Given the description of an element on the screen output the (x, y) to click on. 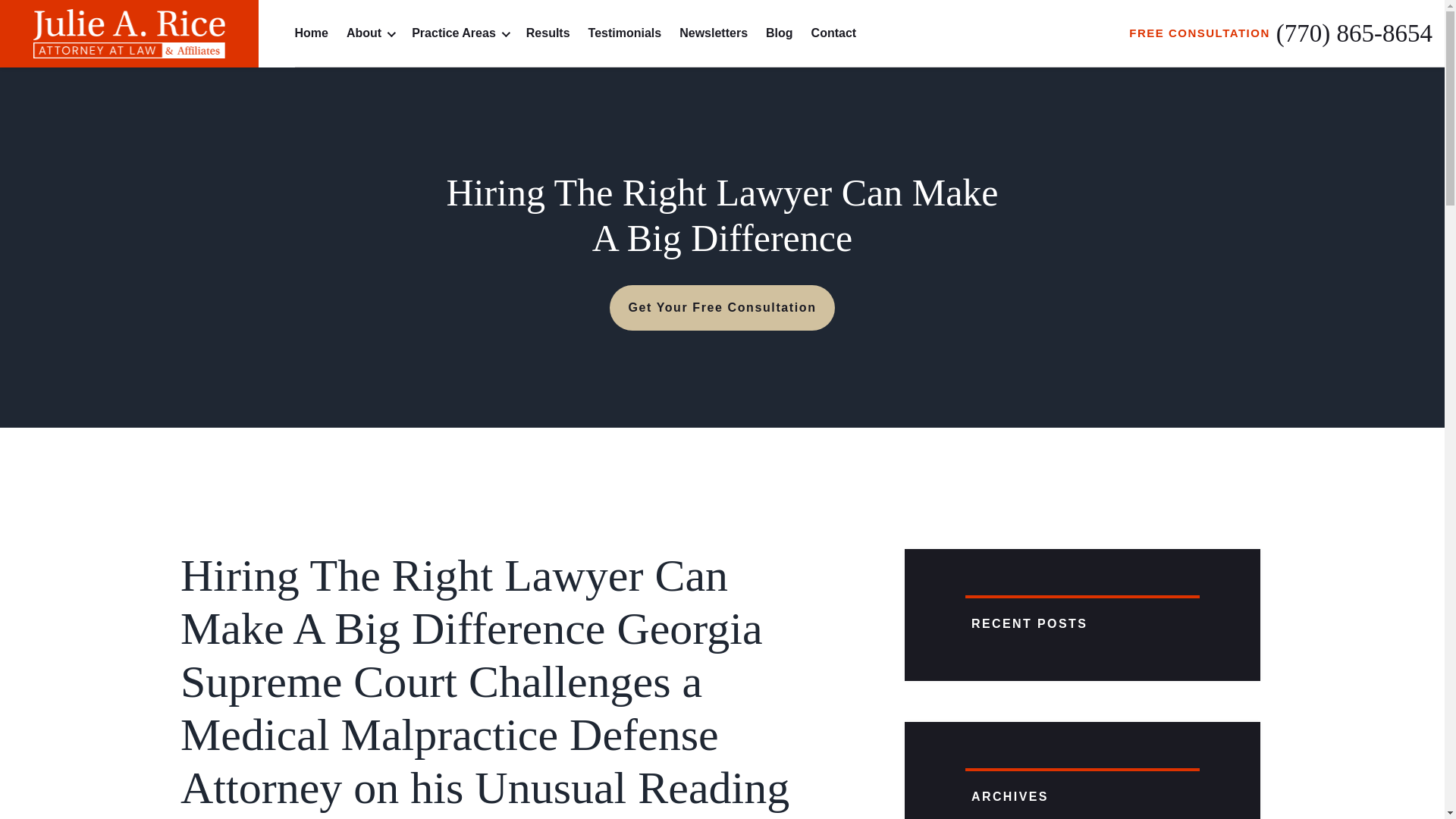
Practice Areas (460, 33)
Phone (1354, 33)
Newsletters (713, 33)
Testimonials (625, 33)
Get Your Free Consultation (722, 307)
